Given the description of an element on the screen output the (x, y) to click on. 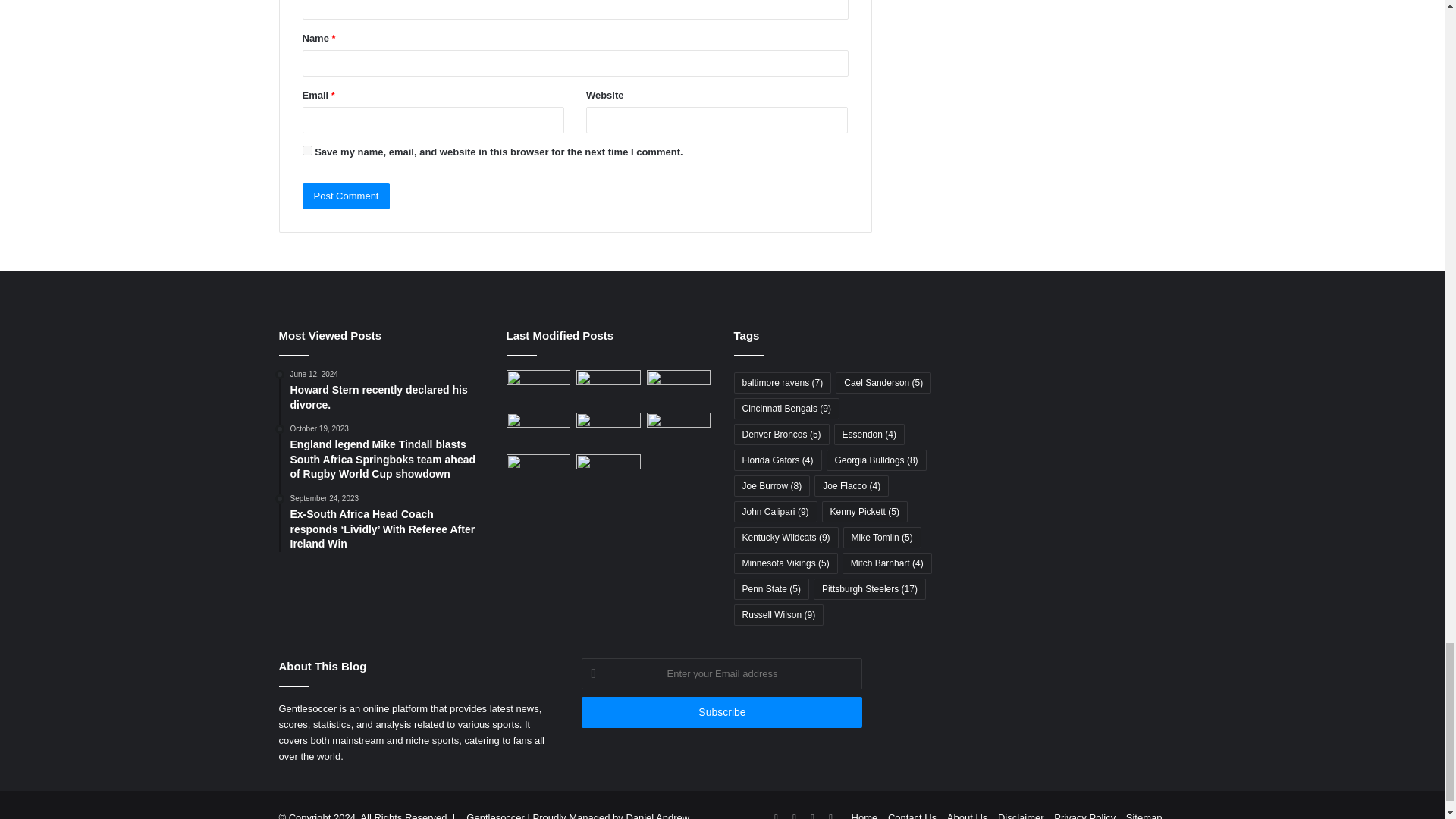
yes (306, 150)
Subscribe (720, 712)
Post Comment (345, 195)
